Given the description of an element on the screen output the (x, y) to click on. 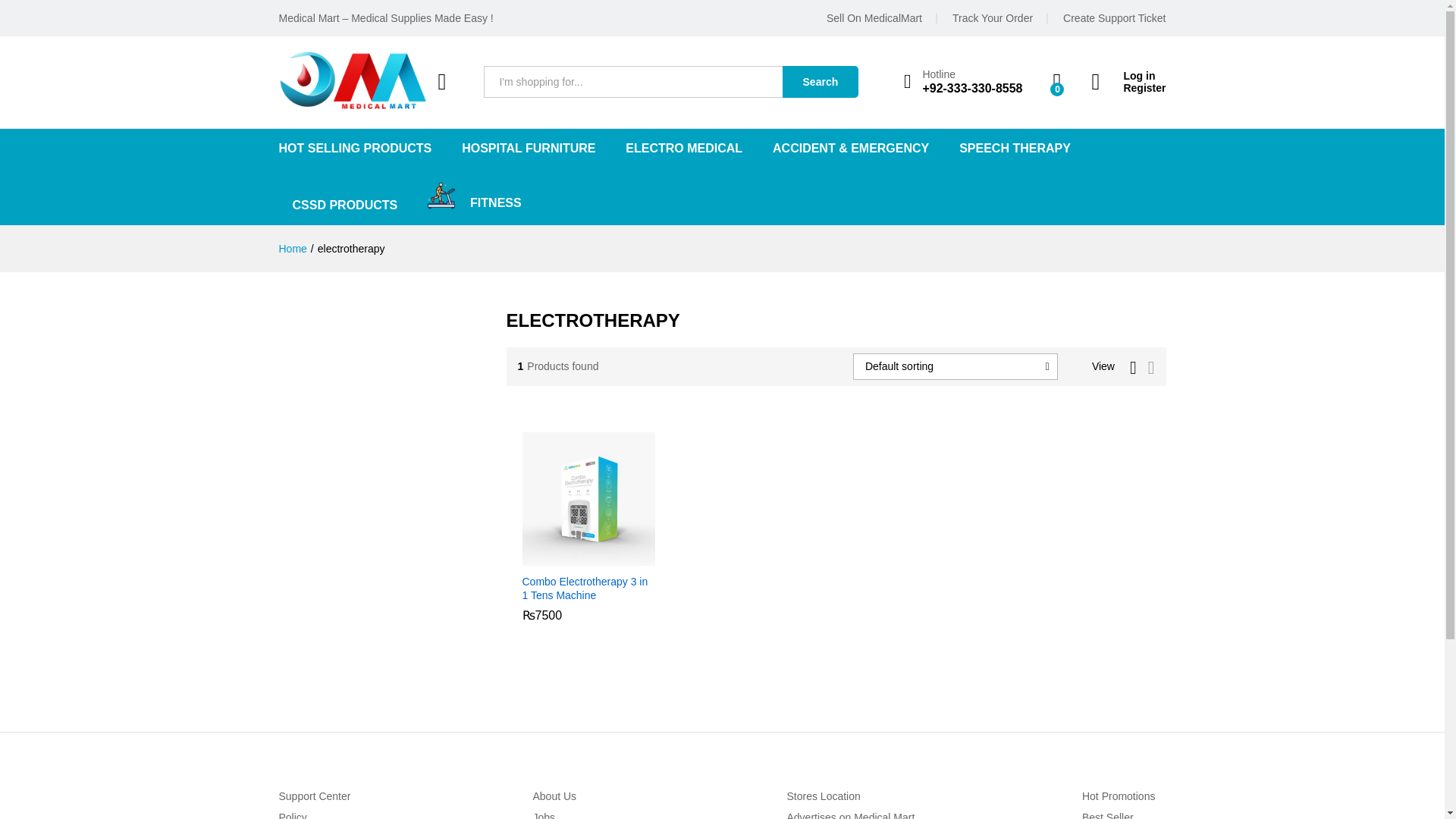
HOT SELLING PRODUCTS (355, 148)
Search (821, 81)
Register (1128, 88)
Track Your Order (992, 18)
HOSPITAL FURNITURE (528, 148)
Create Support Ticket (1114, 18)
Log in (1128, 75)
Sell on Medicalmart (874, 18)
Sell On MedicalMart (874, 18)
